Given the description of an element on the screen output the (x, y) to click on. 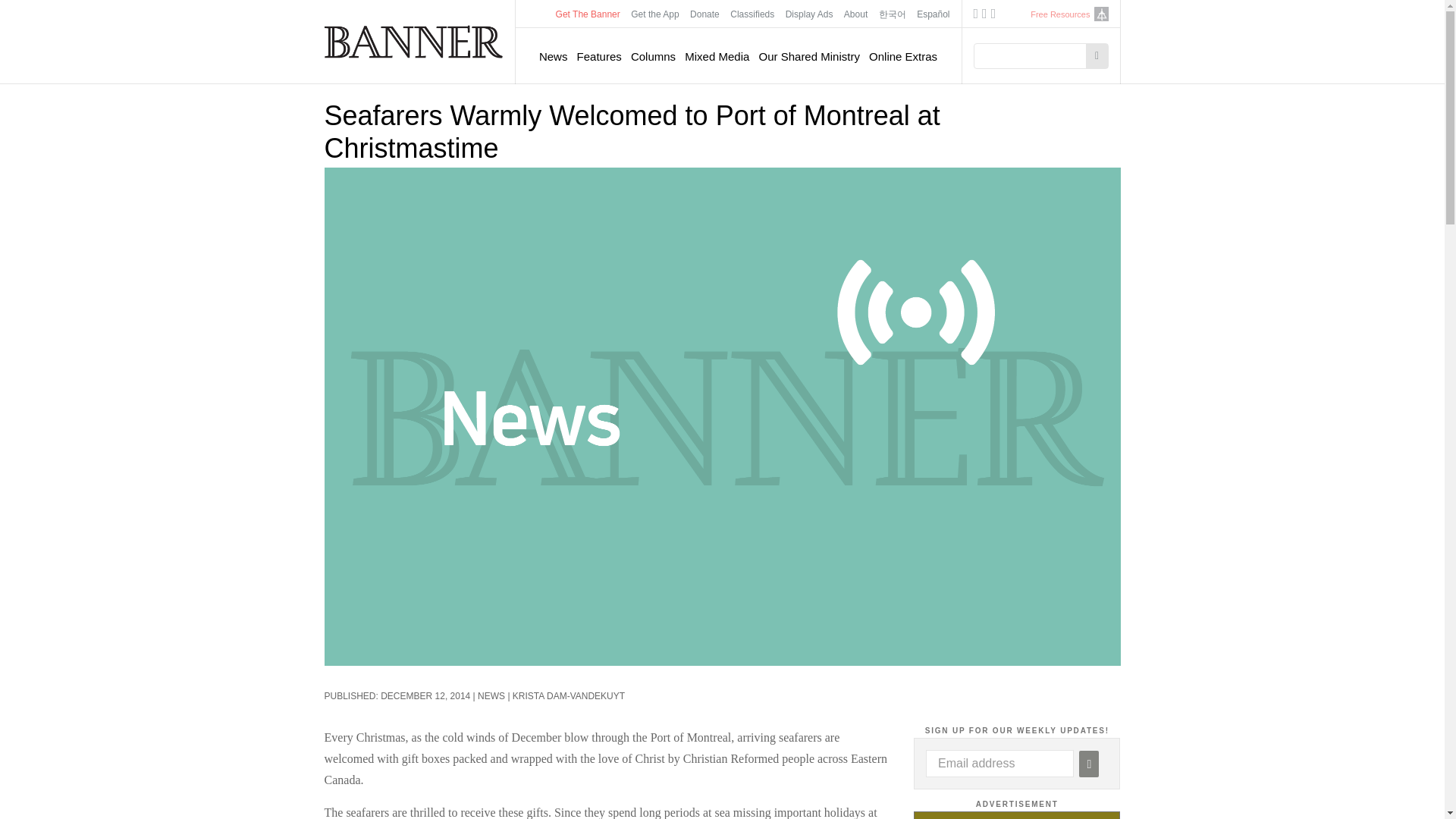
Columns (652, 56)
News (552, 56)
Mixed Media (716, 56)
Search (1097, 55)
Classifieds (751, 14)
Get the App (654, 14)
Home (413, 41)
crcna.org (1100, 13)
Enter the terms you wish to search for. (1035, 55)
KRISTA DAM-VANDEKUYT (568, 696)
Our Shared Ministry (809, 56)
Donate (704, 14)
NEWS (491, 696)
